Given the description of an element on the screen output the (x, y) to click on. 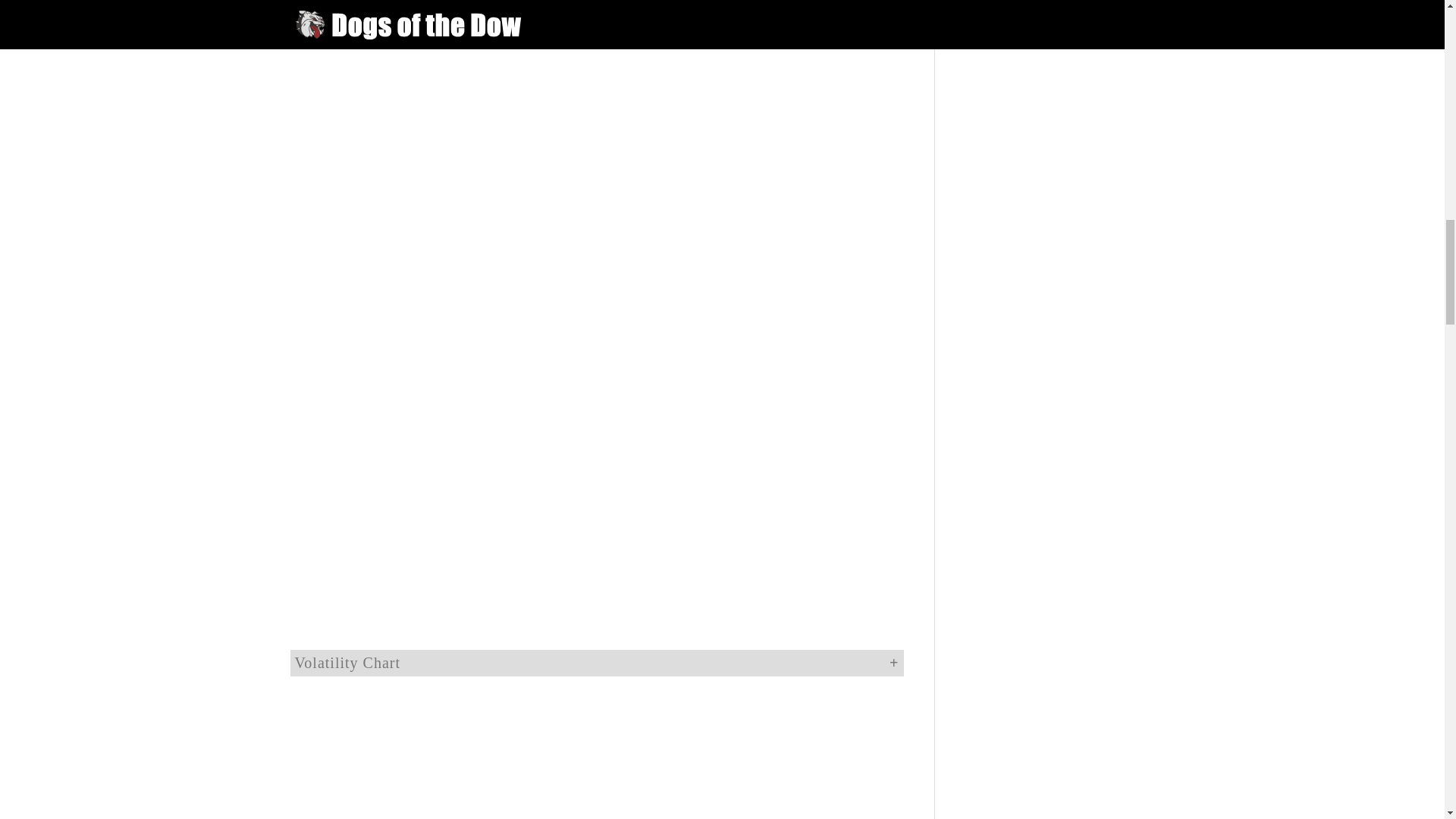
Volatility Chart (595, 663)
